Given the description of an element on the screen output the (x, y) to click on. 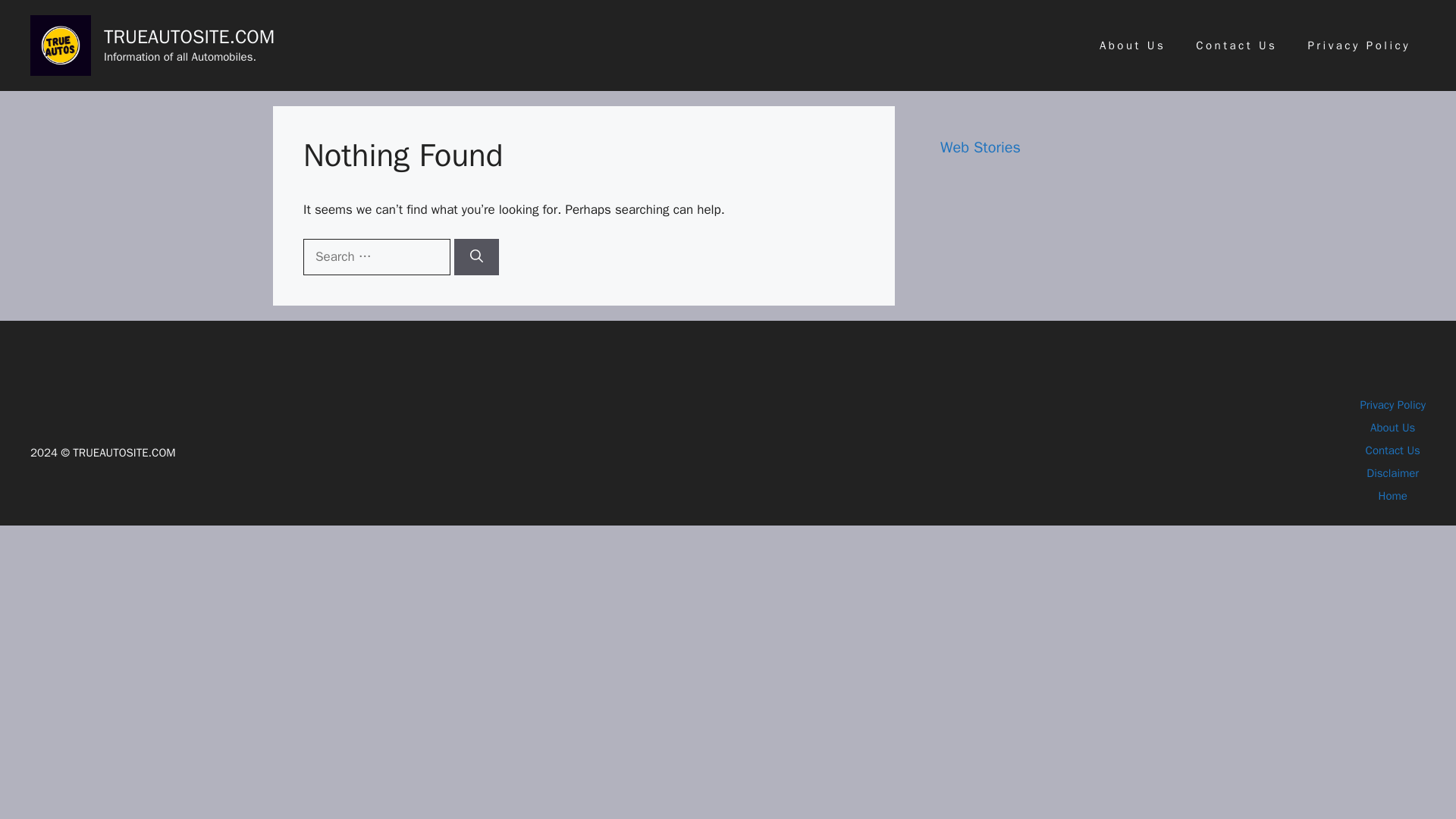
About Us (1132, 44)
TRUEAUTOSITE.COM (189, 36)
Disclaimer (1392, 472)
Contact Us (1393, 450)
Contact Us (1236, 44)
About Us (1392, 427)
Search for: (375, 257)
Privacy Policy (1392, 404)
Home (1392, 495)
Privacy Policy (1358, 44)
